Given the description of an element on the screen output the (x, y) to click on. 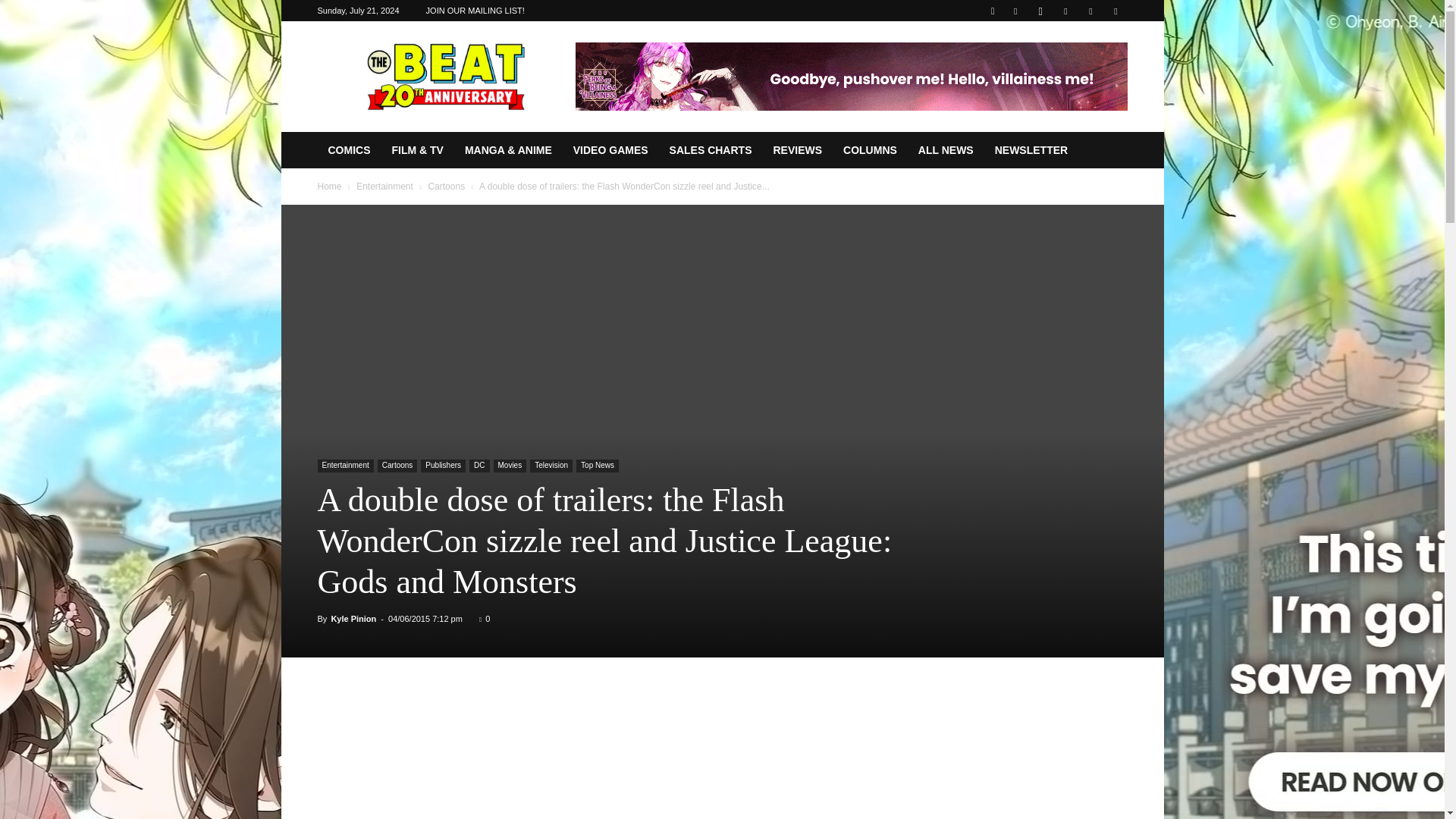
View all posts in Cartoons (446, 185)
Instagram (1040, 10)
Search (1085, 64)
VIDEO GAMES (610, 149)
ALL NEWS (945, 149)
NEWSLETTER (1031, 149)
Facebook (1015, 10)
COMICS (348, 149)
REVIEWS (796, 149)
COLUMNS (869, 149)
Youtube (1114, 10)
View all posts in Entertainment (384, 185)
SALES CHARTS (710, 149)
JOIN OUR MAILING LIST! (475, 10)
RSS (1065, 10)
